Given the description of an element on the screen output the (x, y) to click on. 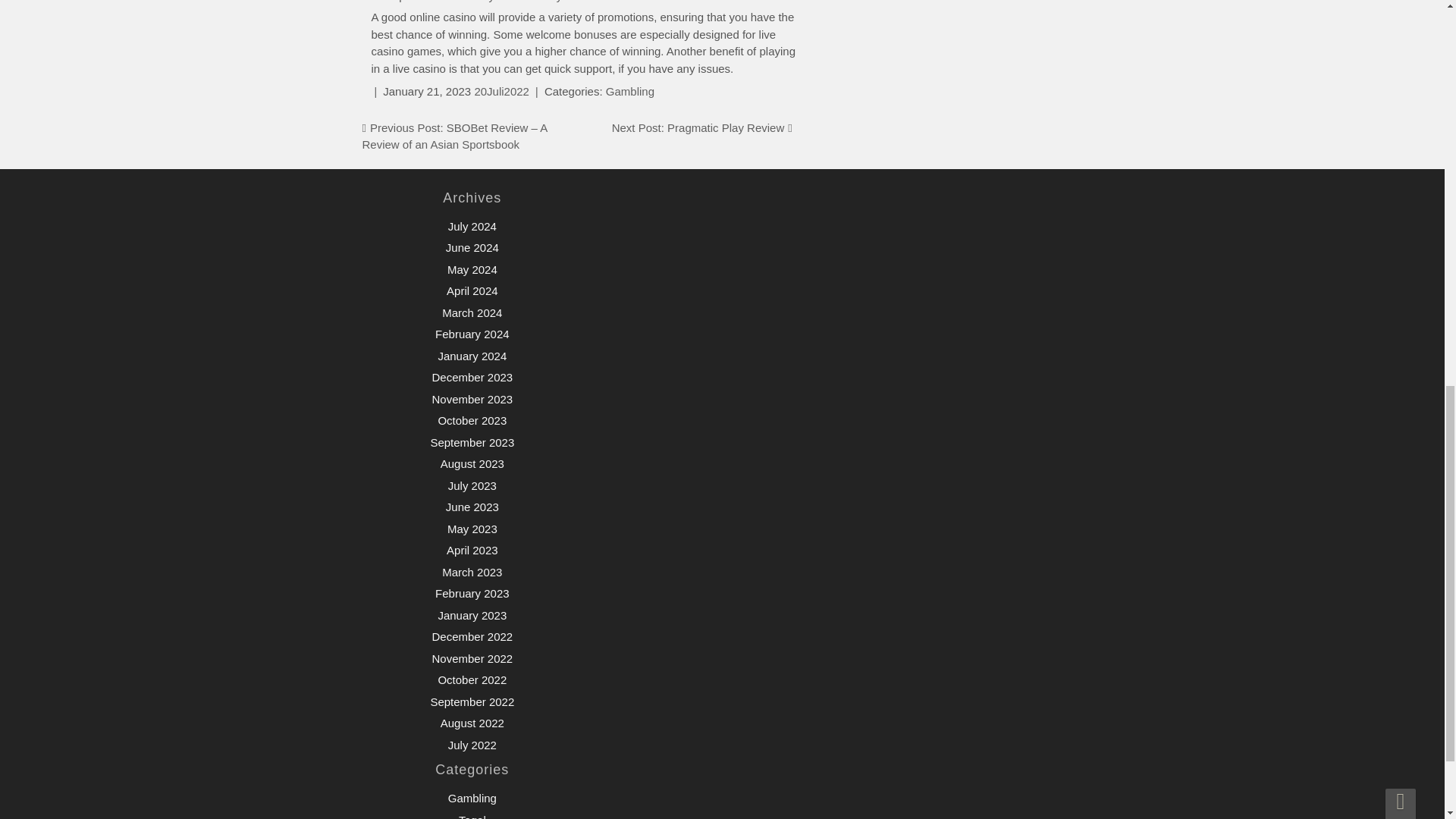
October 2023 (472, 420)
February 2024 (472, 333)
March 2024 (472, 312)
April 2024 (471, 290)
July 2024 (472, 226)
March 2023 (472, 571)
October 2022 (472, 679)
September 2023 (471, 441)
April 2023 (471, 549)
July 2023 (472, 485)
June 2023 (472, 506)
January 2024 (472, 355)
20Juli2022 (501, 91)
May 2024 (471, 269)
February 2023 (472, 593)
